Given the description of an element on the screen output the (x, y) to click on. 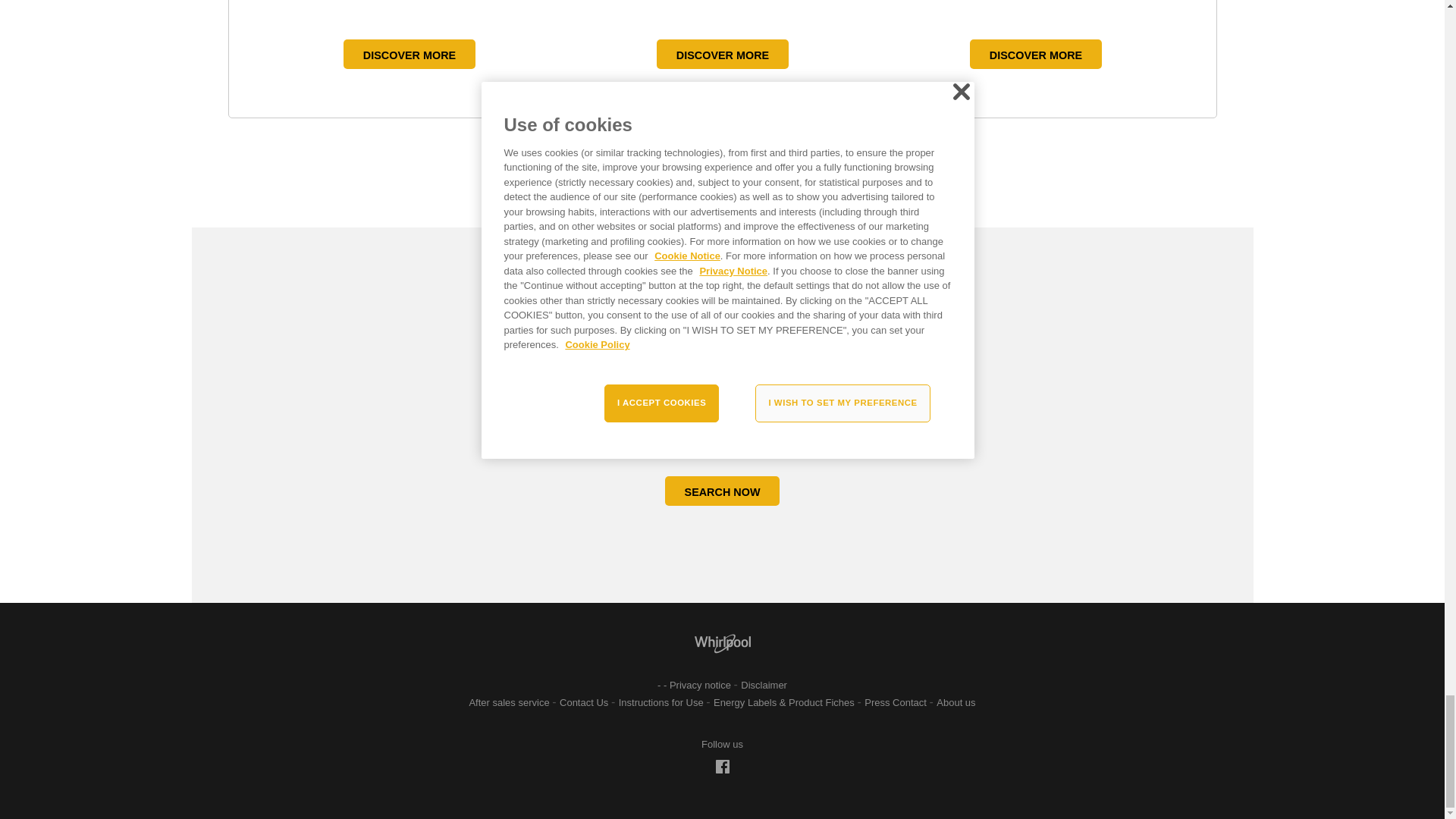
DISCOVER MORE (722, 53)
DISCOVER MORE (1035, 53)
1 (716, 175)
SEARCH NOW (722, 490)
2 (727, 175)
DISCOVER MORE (409, 53)
